Given the description of an element on the screen output the (x, y) to click on. 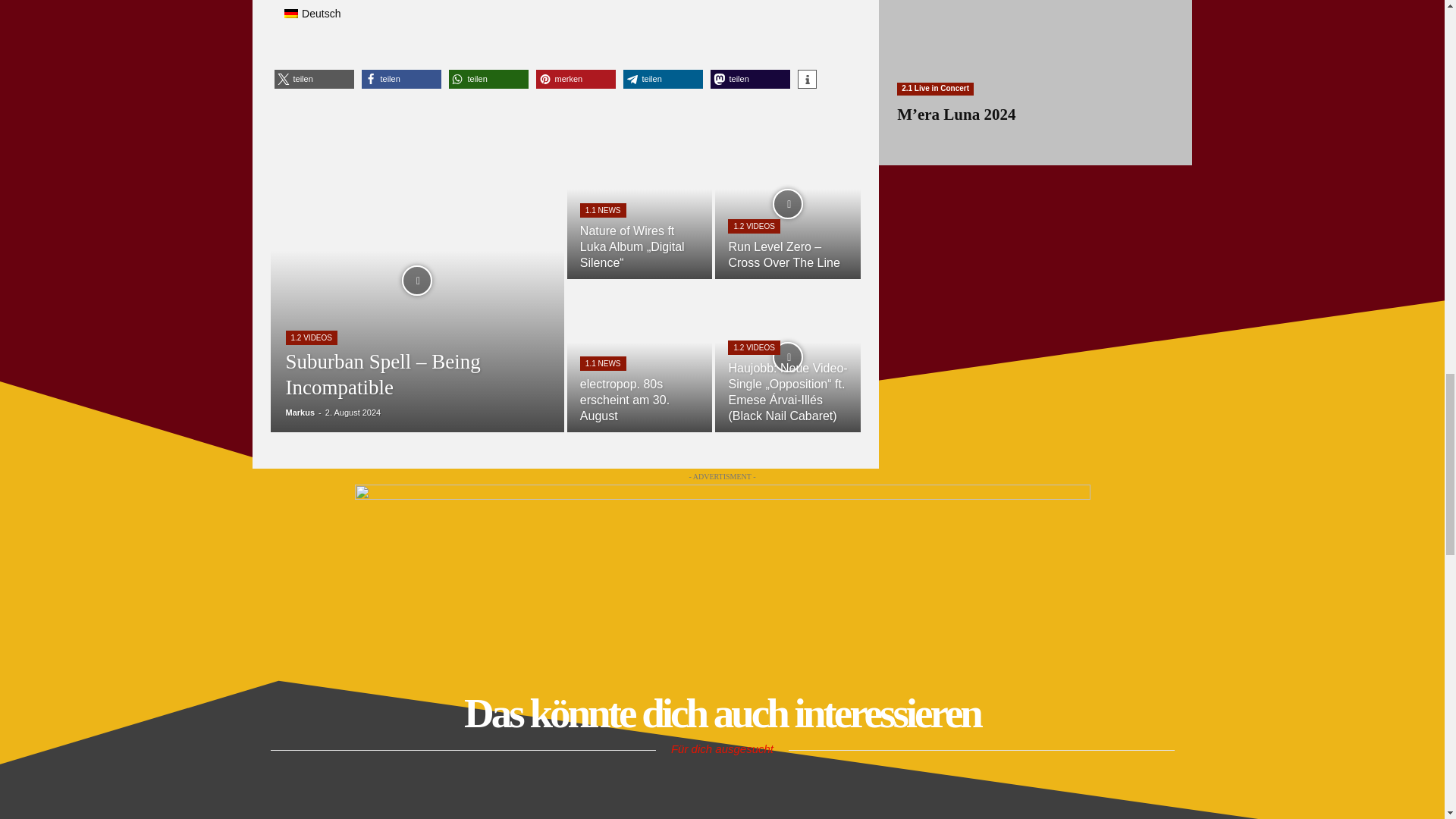
Bei X teilen (314, 78)
Bei Facebook teilen (401, 78)
